Given the description of an element on the screen output the (x, y) to click on. 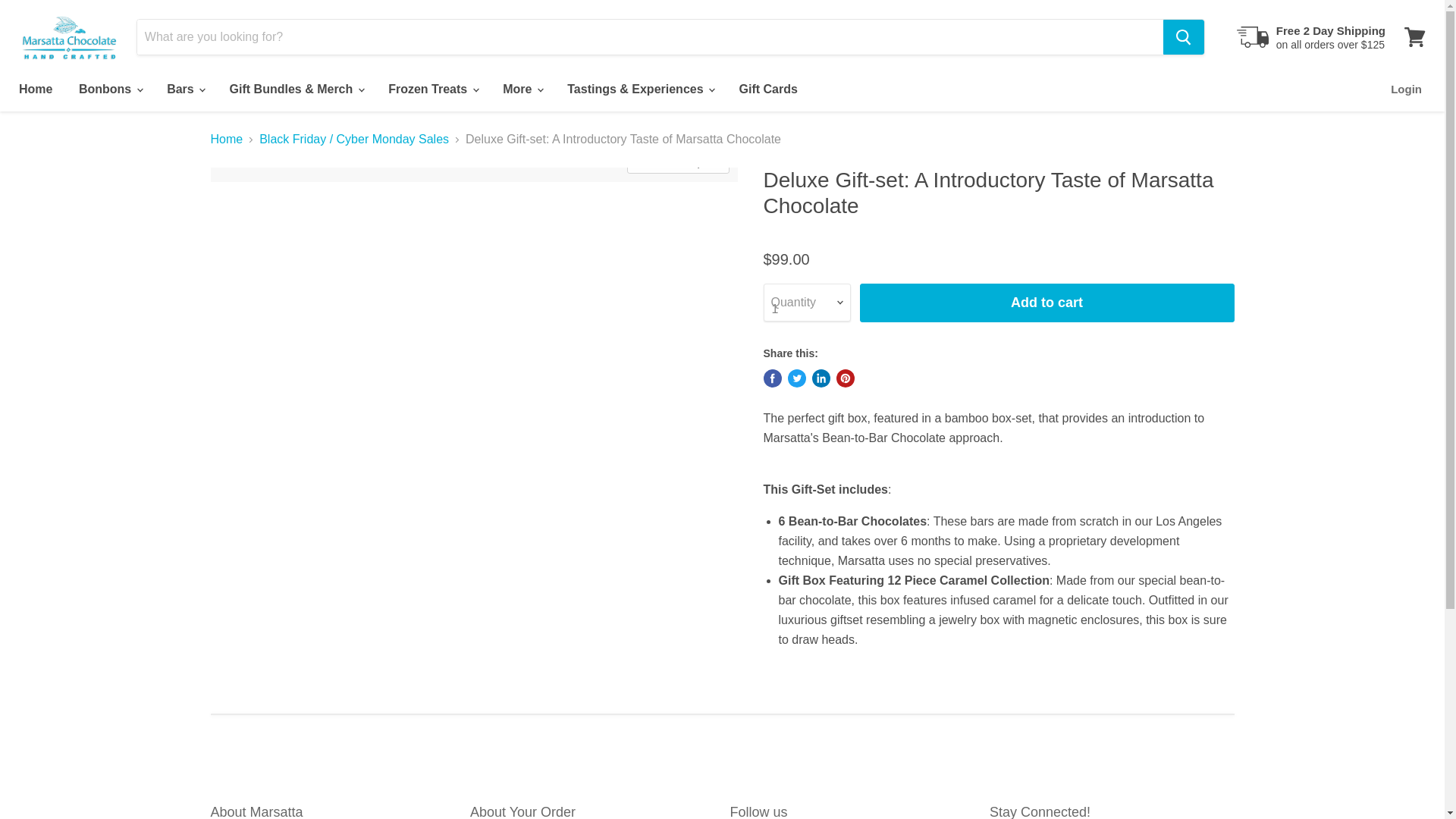
View cart (1414, 36)
Bars (184, 89)
Bonbons (109, 89)
Home (35, 89)
